Given the description of an element on the screen output the (x, y) to click on. 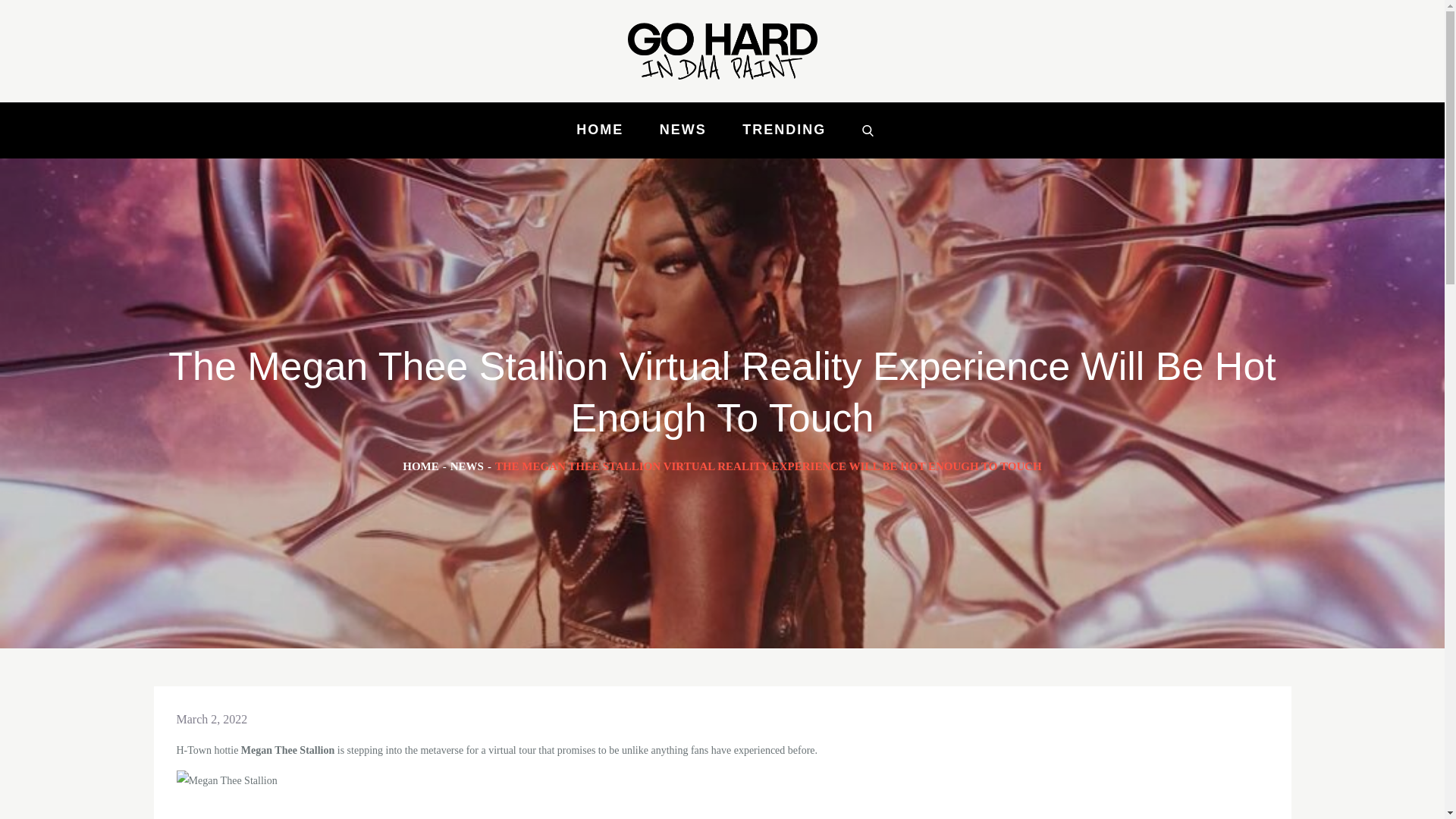
HOME (599, 129)
HOME (421, 466)
March 2, 2022 (211, 718)
NEWS (683, 129)
NEWS (466, 466)
TRENDING (784, 129)
